Given the description of an element on the screen output the (x, y) to click on. 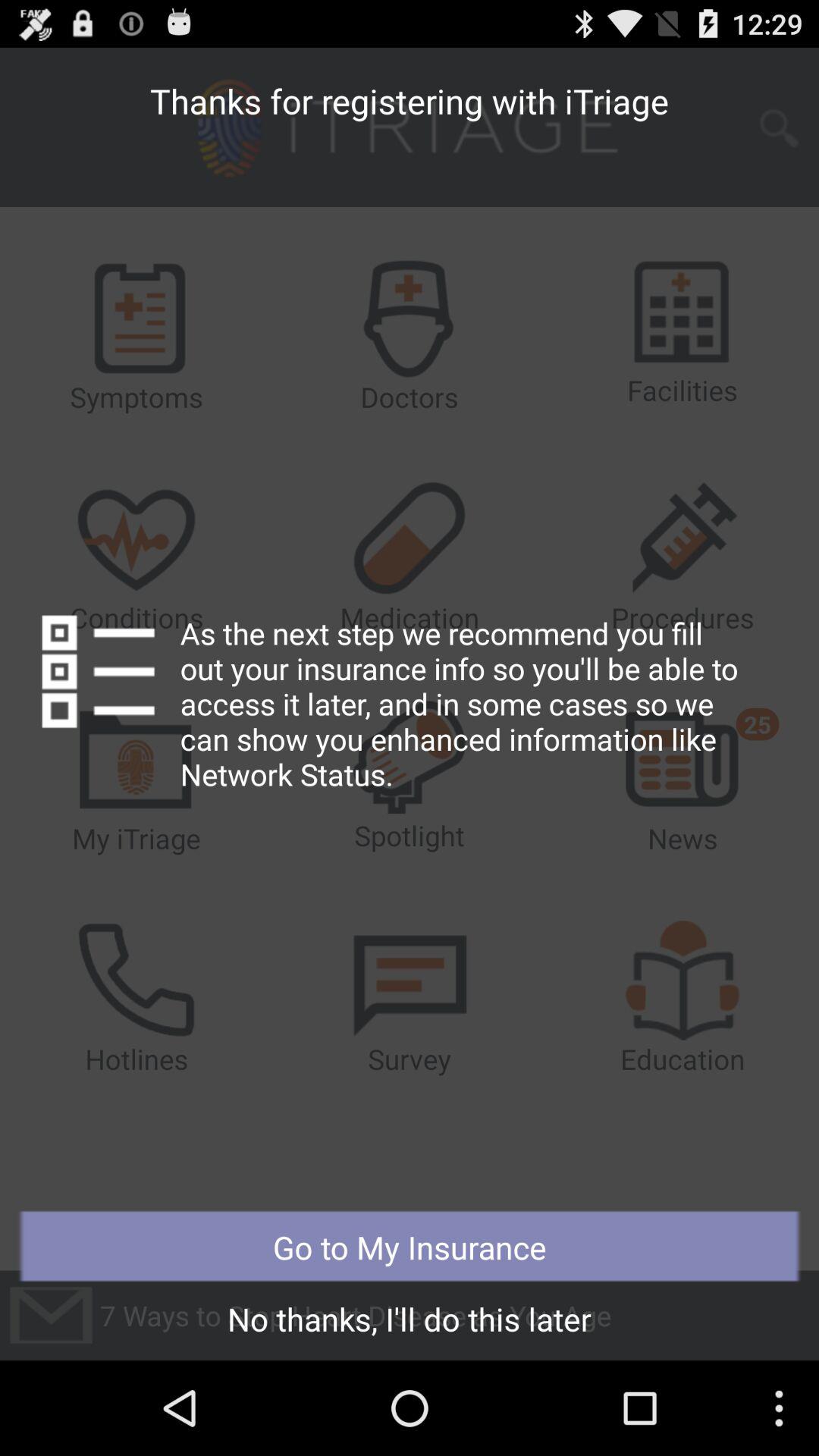
open the go to my (409, 1247)
